Given the description of an element on the screen output the (x, y) to click on. 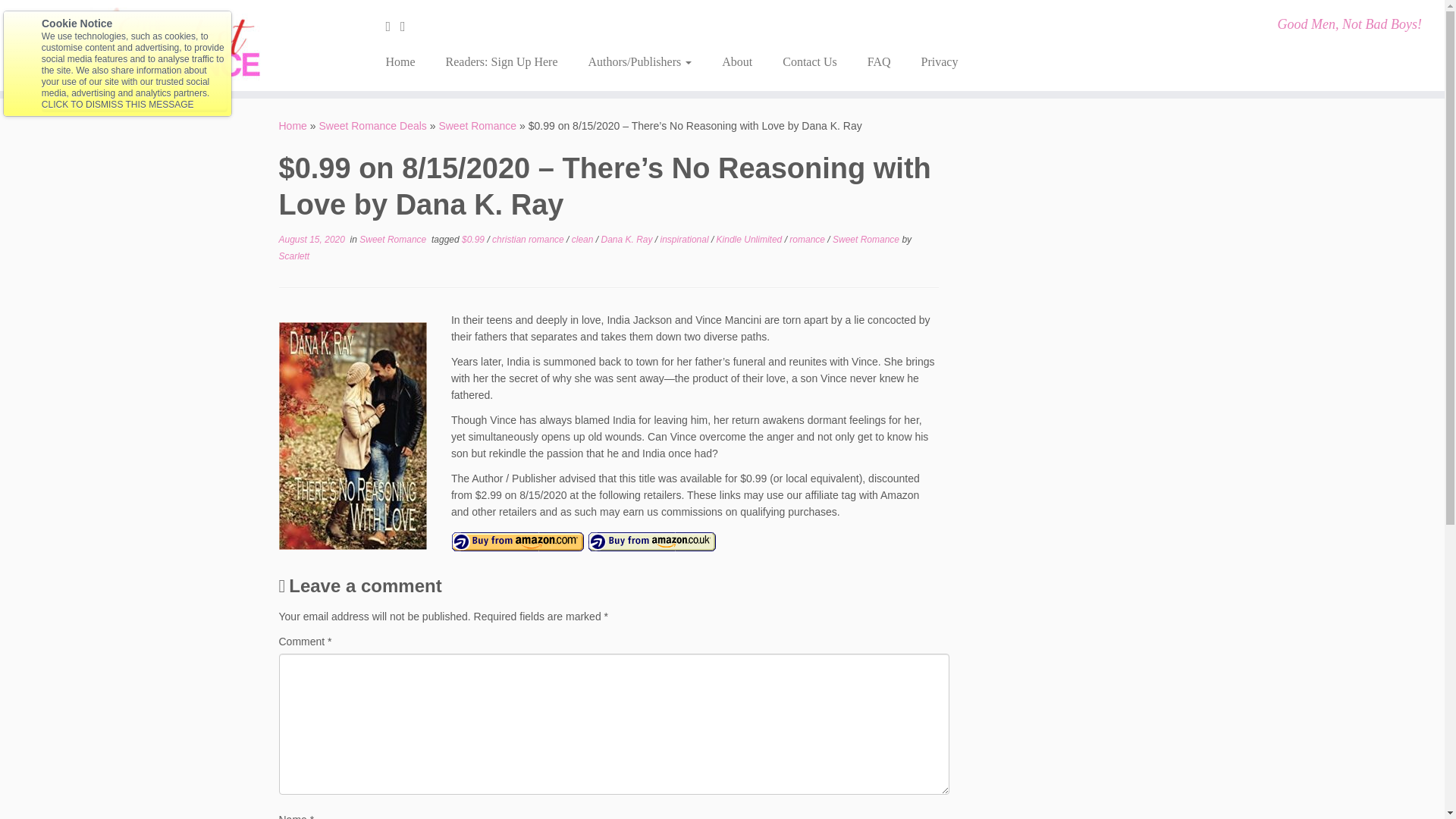
Home (293, 125)
View all posts in Sweet Romance (866, 239)
View all posts in inspirational (686, 239)
Dana K. Ray (626, 239)
Kindle Unlimited (750, 239)
View all posts in christian romance (529, 239)
FAQ (878, 61)
Sweet Romance (477, 125)
clean (583, 239)
Sweet Romance Deals (372, 125)
Privacy (931, 61)
romance (808, 239)
Follow me on Facebook (407, 26)
About (736, 61)
Readers: Sign Up Here (501, 61)
